Given the description of an element on the screen output the (x, y) to click on. 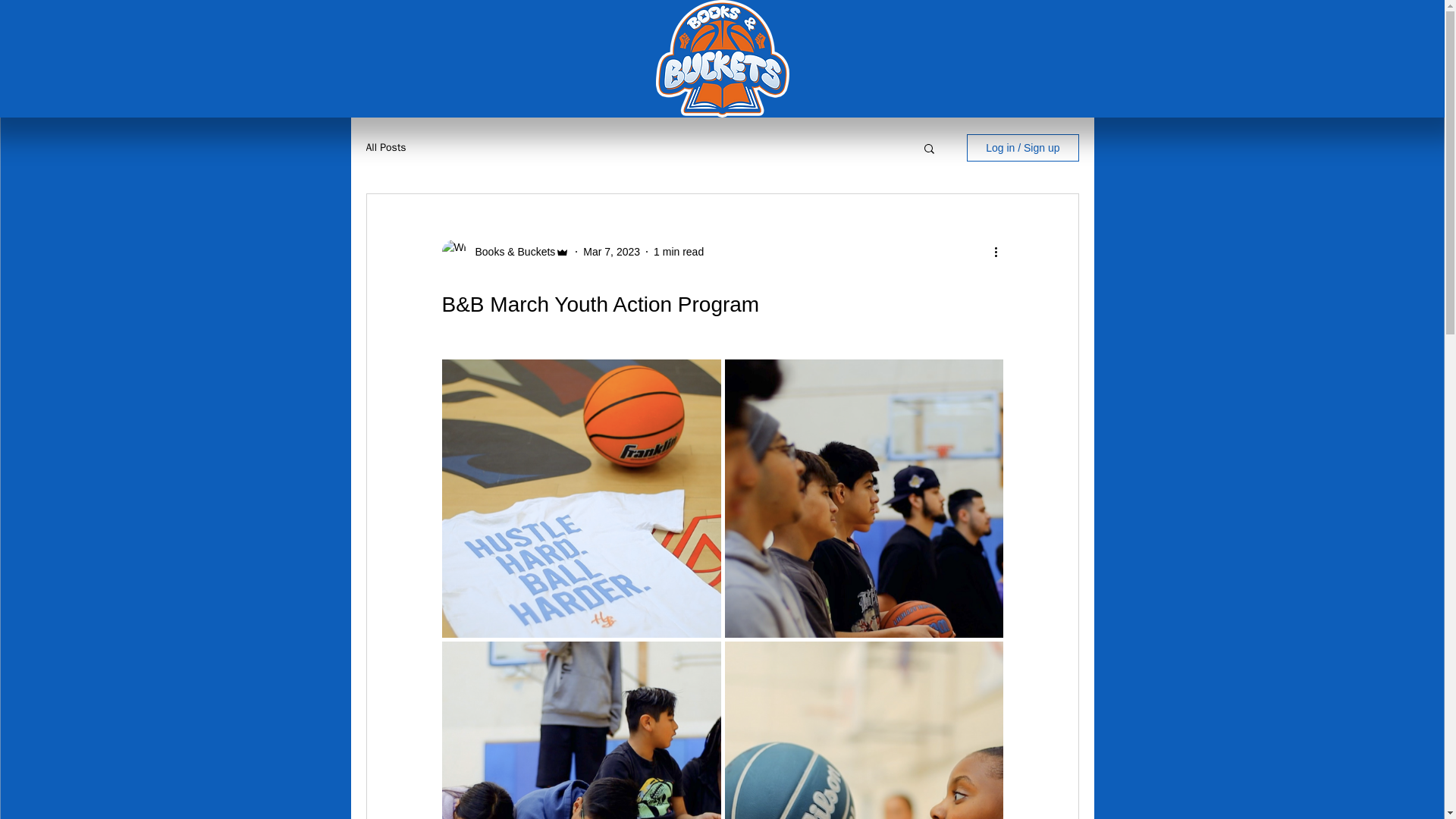
Mar 7, 2023 (611, 251)
1 min read (678, 251)
All Posts (385, 147)
